Given the description of an element on the screen output the (x, y) to click on. 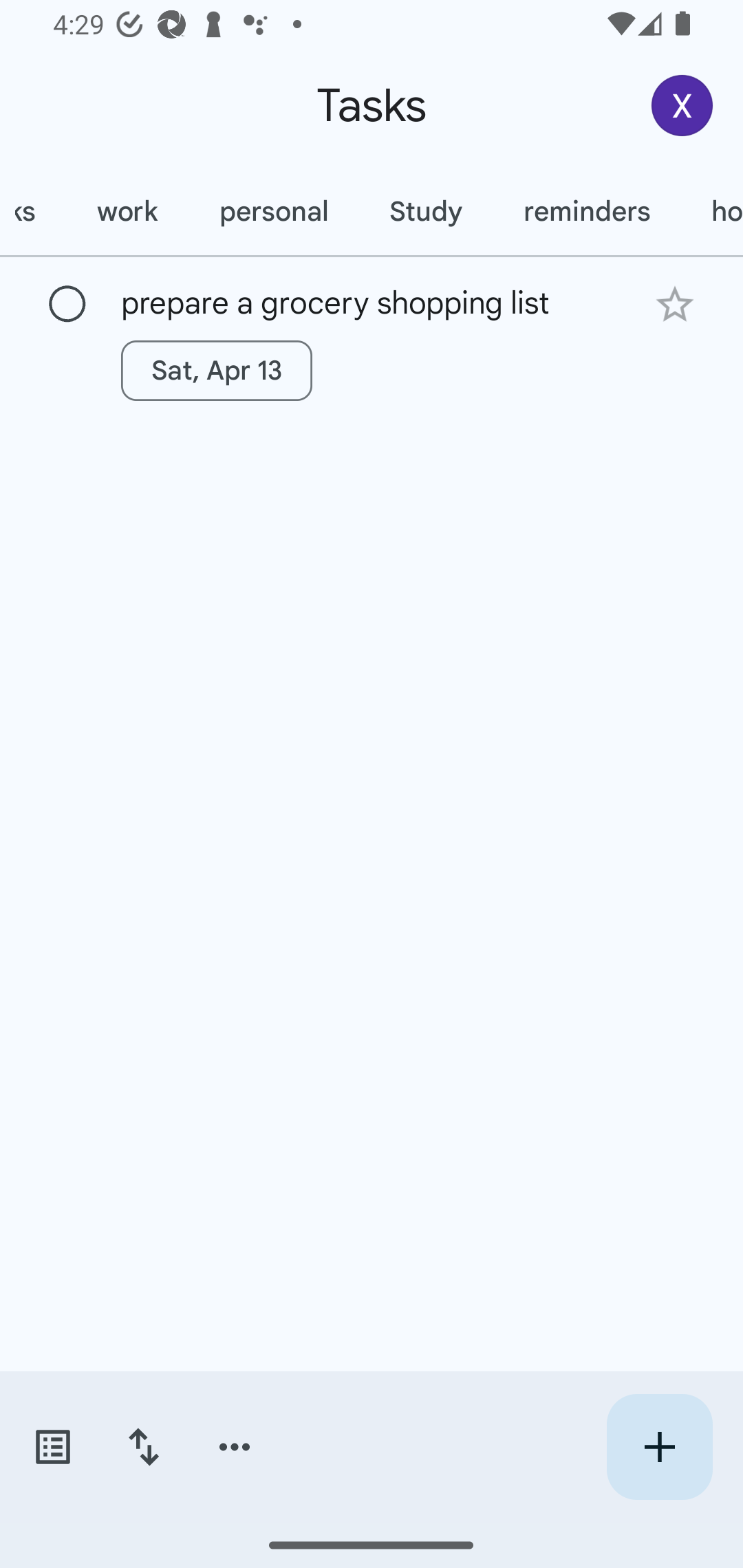
work (127, 211)
personal (273, 211)
Study (425, 211)
reminders (586, 211)
Add star (674, 303)
Mark as complete (67, 304)
Sat, Apr 13 (216, 369)
Switch task lists (52, 1447)
Create new task (659, 1446)
Change sort order (143, 1446)
More options (234, 1446)
